Given the description of an element on the screen output the (x, y) to click on. 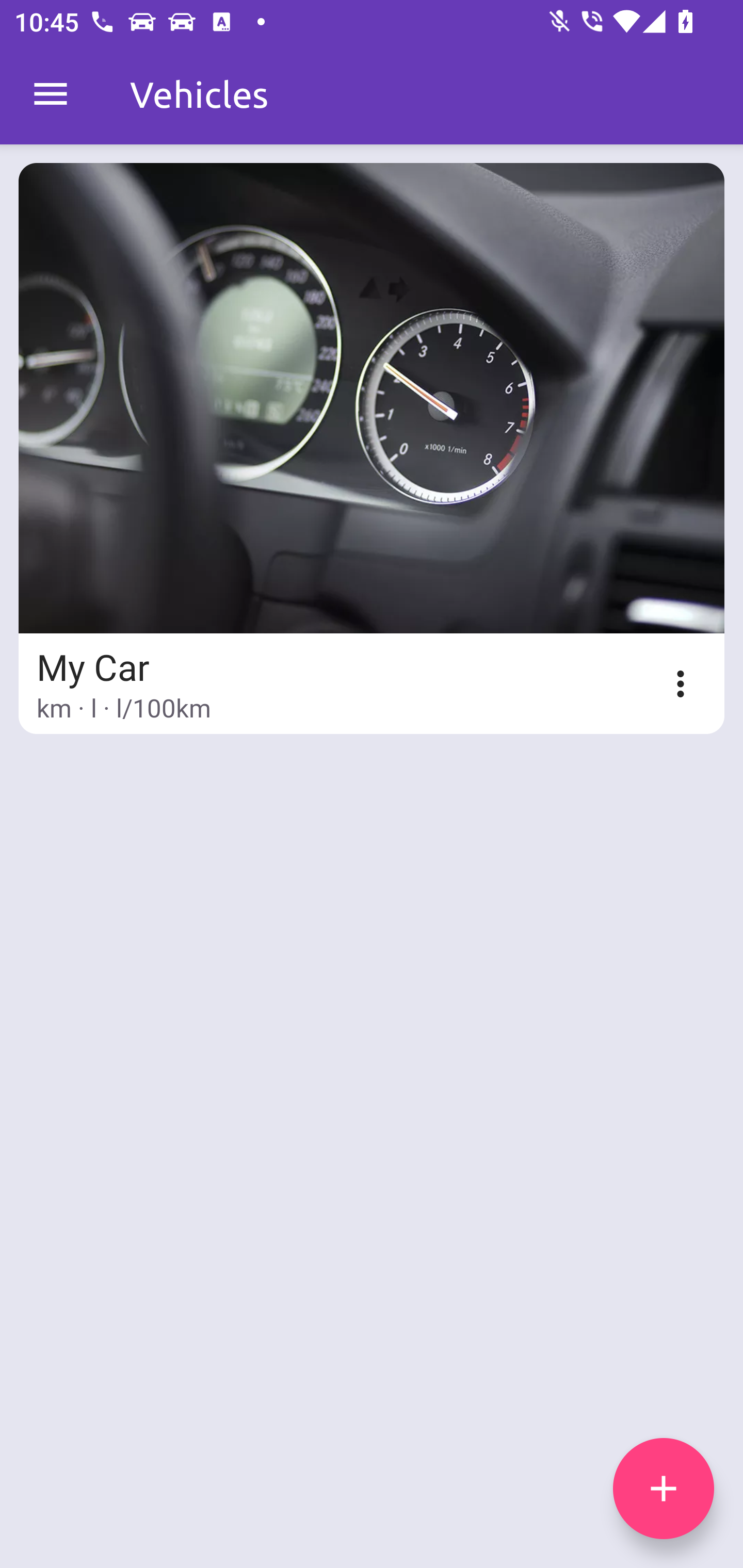
MenuDrawer (50, 93)
My Car km · l · l/100km (371, 448)
add icon (663, 1488)
